Given the description of an element on the screen output the (x, y) to click on. 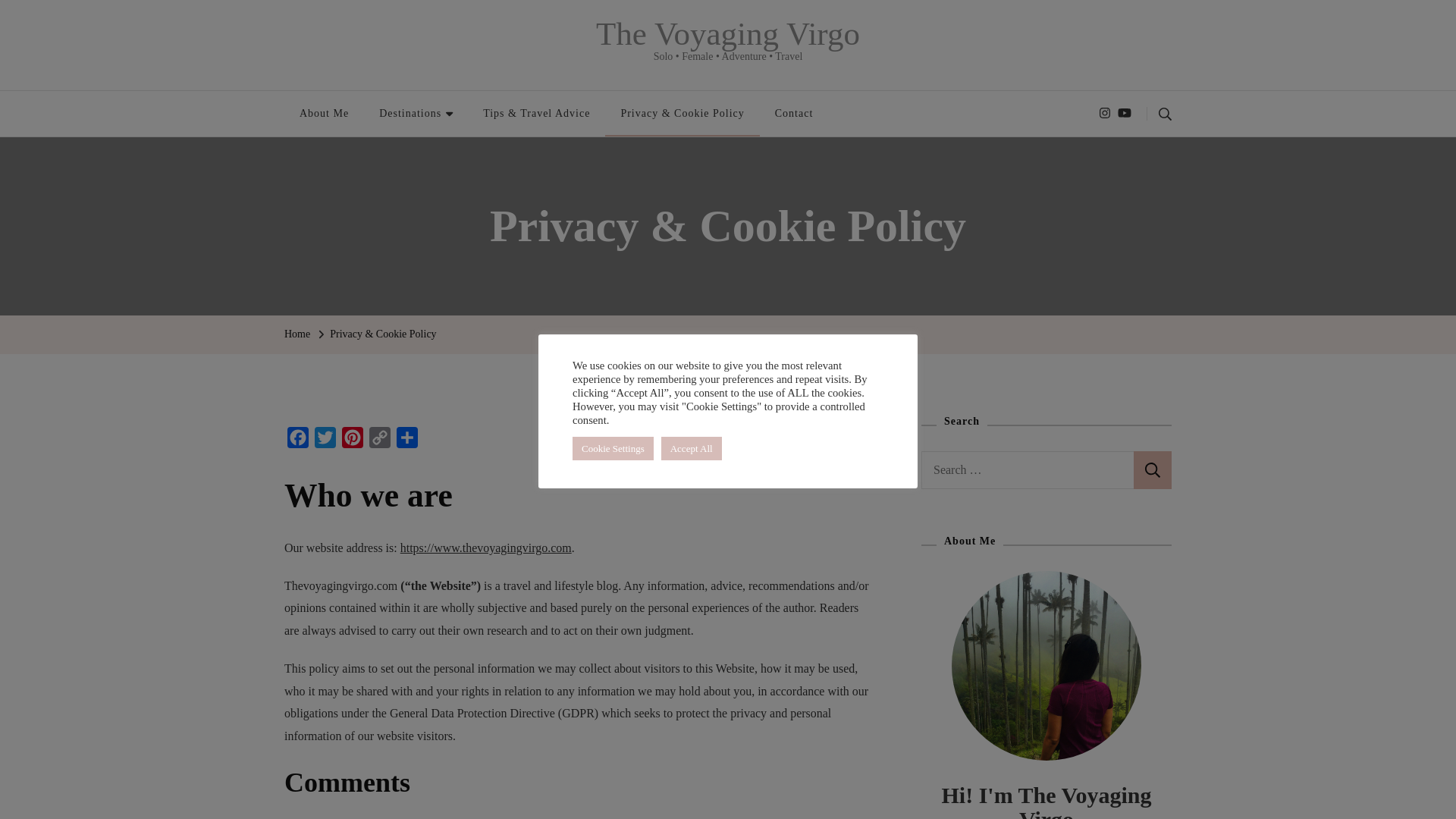
Pinterest (352, 440)
Contact (794, 113)
Twitter (325, 440)
Destinations (415, 113)
Facebook (297, 440)
About Me (323, 113)
Search (1153, 469)
Search (1153, 469)
The Voyaging Virgo (727, 33)
Copy Link (379, 440)
